Given the description of an element on the screen output the (x, y) to click on. 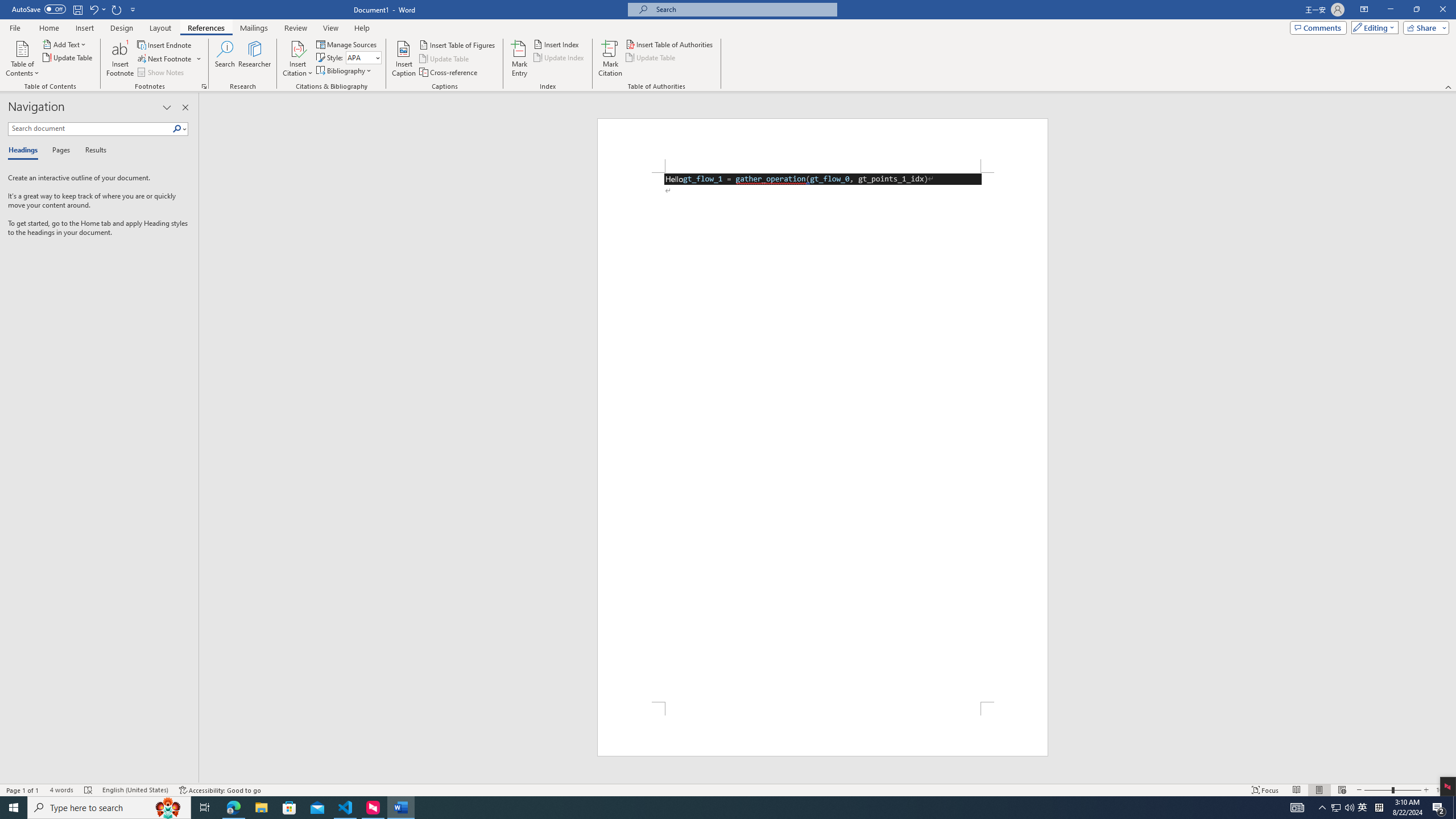
Manage Sources... (347, 44)
Style (360, 57)
Insert Caption... (403, 58)
Zoom 100% (1443, 790)
Page 1 content (822, 436)
Undo Underline Style (96, 9)
Add Text (65, 44)
Cross-reference... (448, 72)
Insert Endnote (165, 44)
Insert Citation (297, 58)
